Given the description of an element on the screen output the (x, y) to click on. 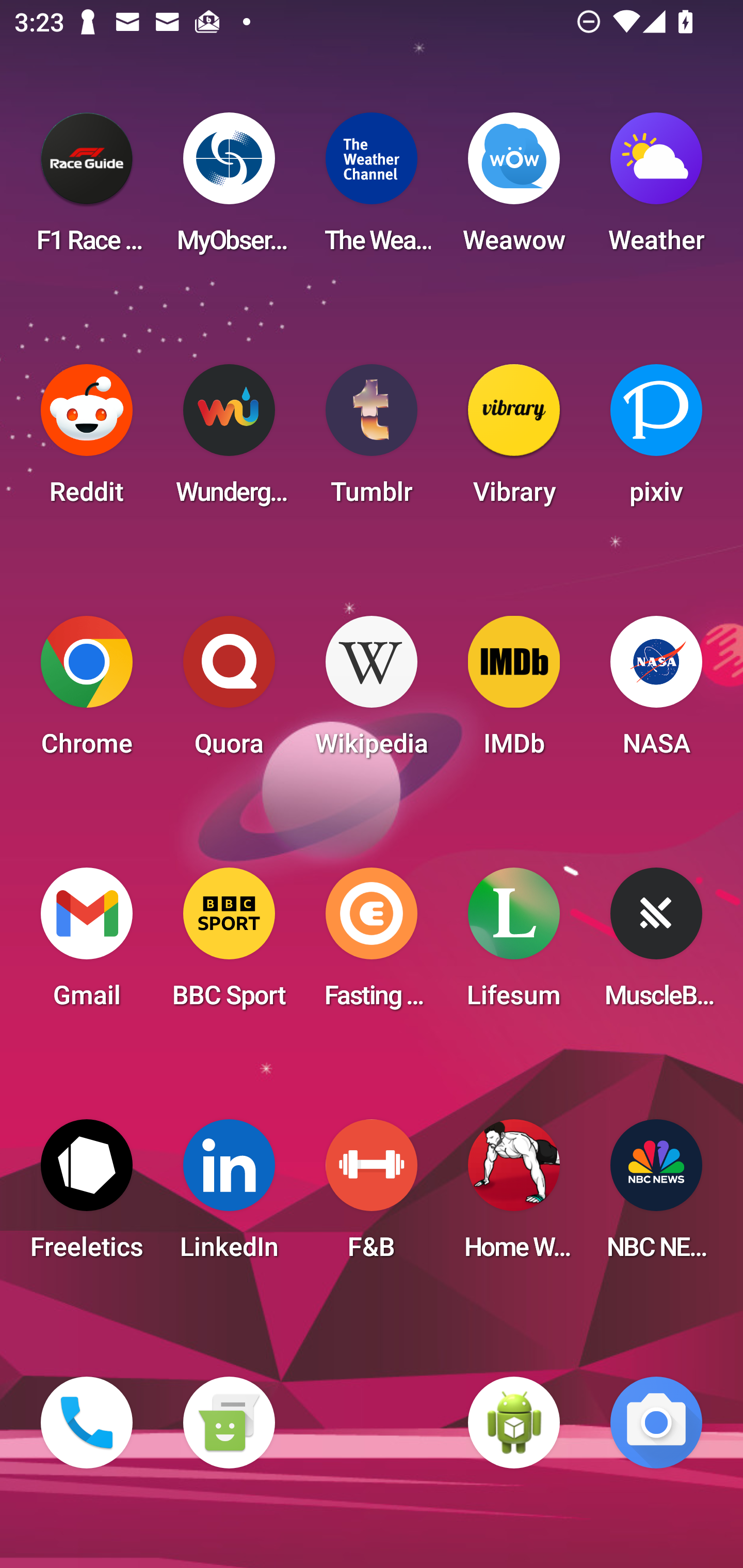
F1 Race Guide (86, 188)
MyObservatory (228, 188)
The Weather Channel (371, 188)
Weawow (513, 188)
Weather (656, 188)
Reddit (86, 440)
Wunderground (228, 440)
Tumblr (371, 440)
Vibrary (513, 440)
pixiv (656, 440)
Chrome (86, 692)
Quora (228, 692)
Wikipedia (371, 692)
IMDb (513, 692)
NASA (656, 692)
Gmail (86, 943)
BBC Sport (228, 943)
Fasting Coach (371, 943)
Lifesum (513, 943)
MuscleBooster (656, 943)
Freeletics (86, 1195)
LinkedIn (228, 1195)
F&B (371, 1195)
Home Workout (513, 1195)
NBC NEWS (656, 1195)
Phone (86, 1422)
Messaging (228, 1422)
WebView Browser Tester (513, 1422)
Camera (656, 1422)
